Given the description of an element on the screen output the (x, y) to click on. 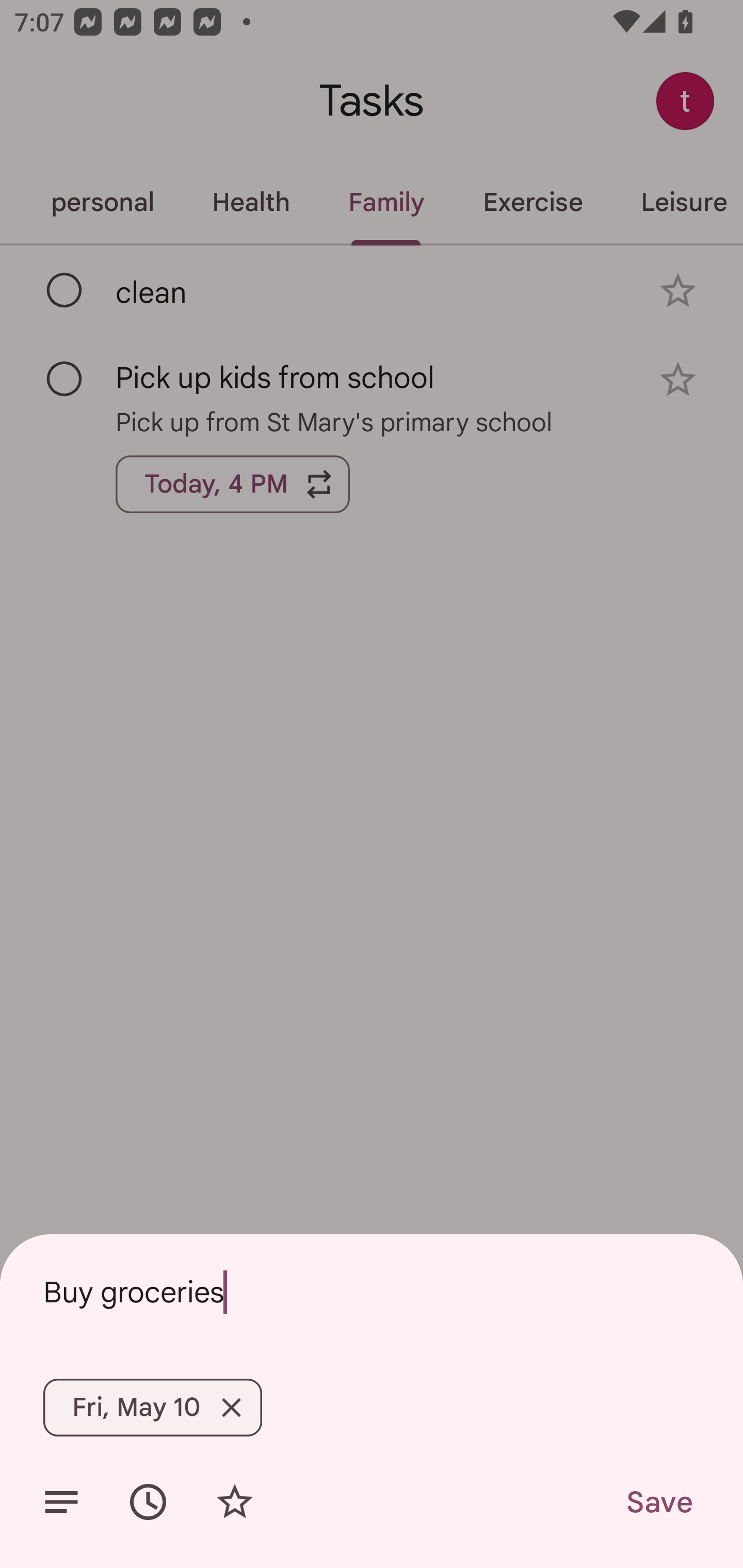
Buy groceries (371, 1291)
Fri, May 10 Remove Fri, May 10 (152, 1407)
Save (659, 1501)
Add details (60, 1501)
Set date/time (147, 1501)
Add star (234, 1501)
